Given the description of an element on the screen output the (x, y) to click on. 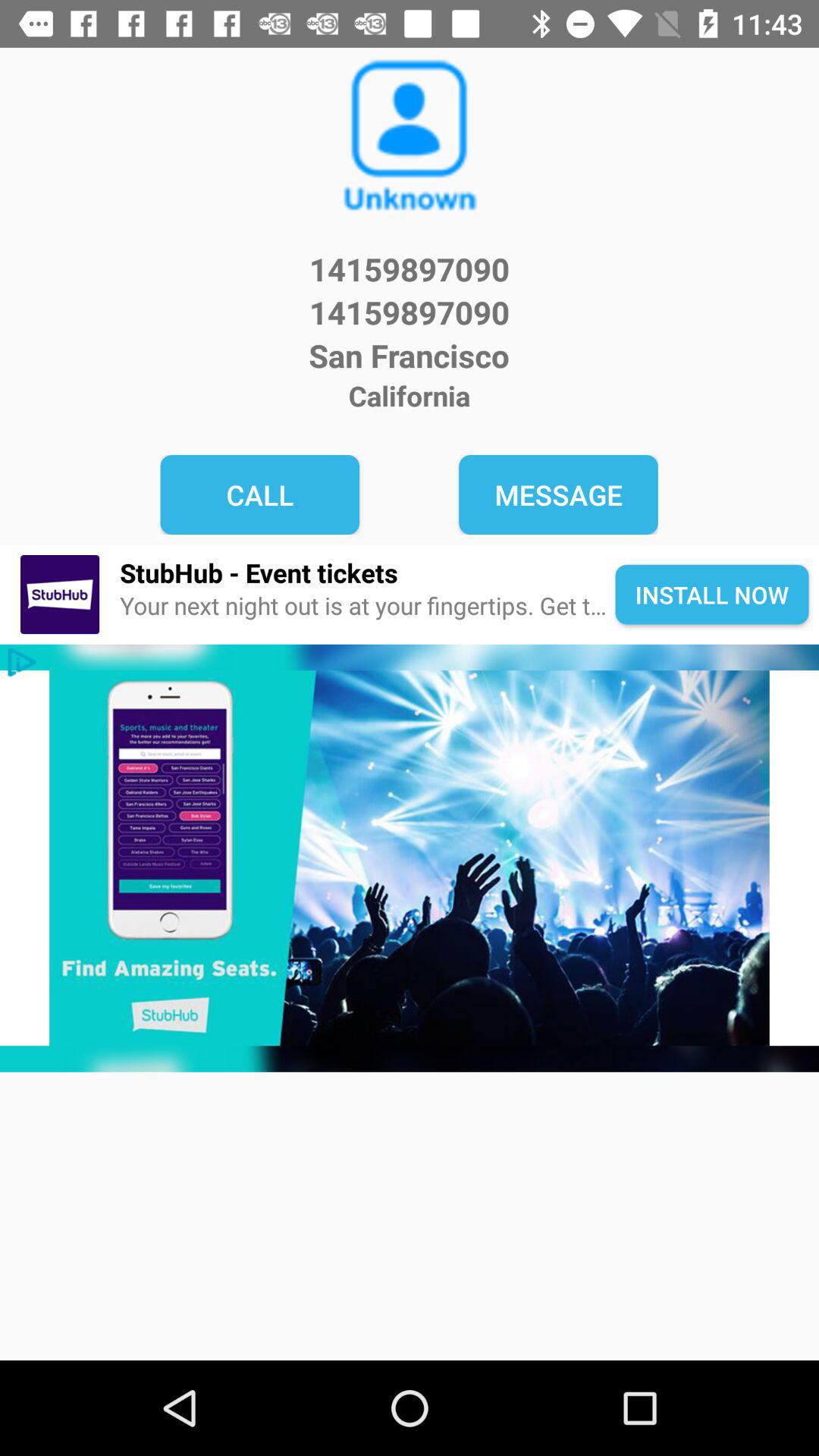
turn on the icon above the your next night (367, 572)
